Given the description of an element on the screen output the (x, y) to click on. 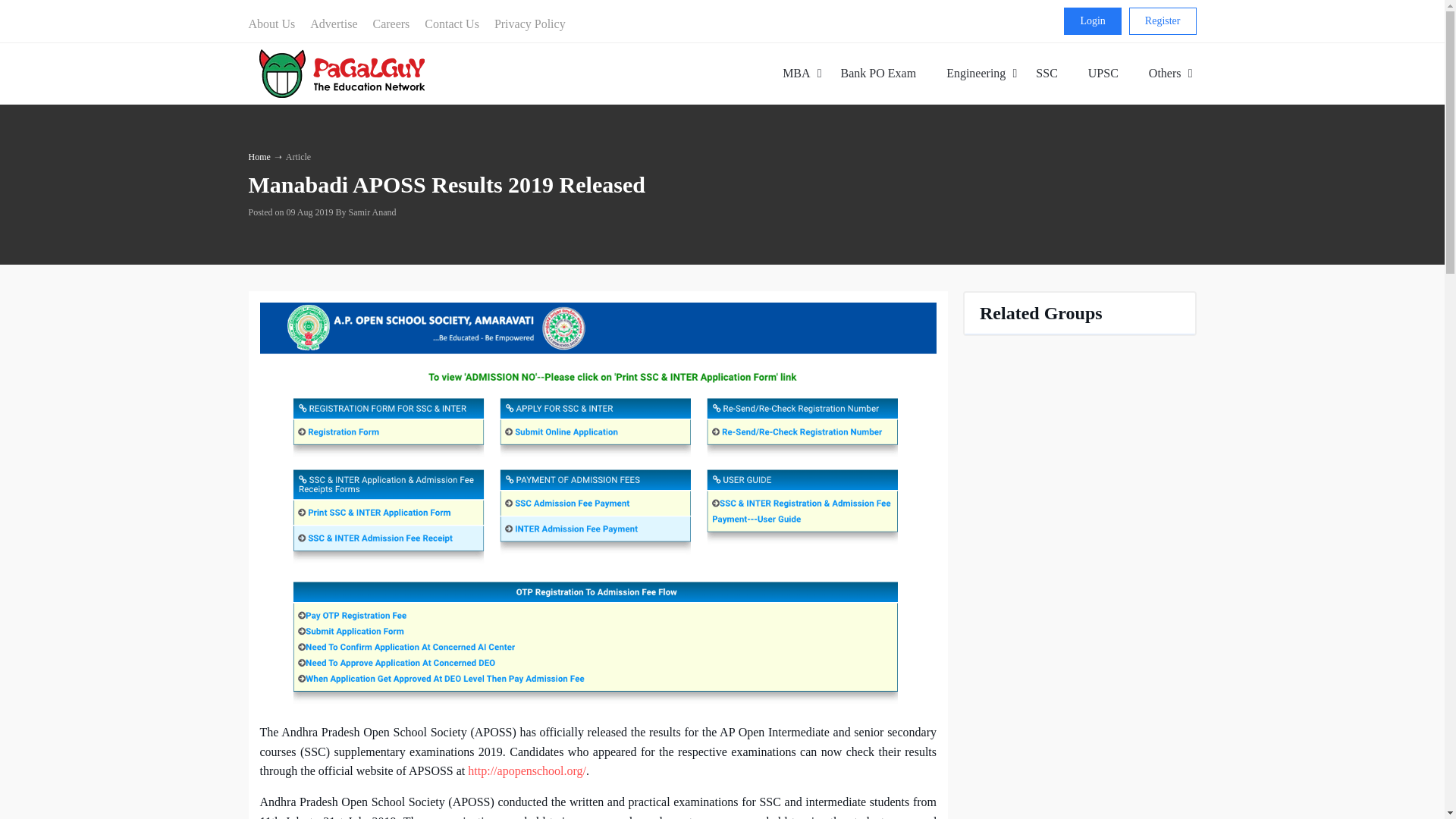
About Us (275, 24)
Advertise (333, 24)
Login (1092, 21)
Contact Us (981, 73)
MBA (451, 24)
Privacy Policy (796, 73)
Register (529, 24)
Careers (1162, 21)
